Given the description of an element on the screen output the (x, y) to click on. 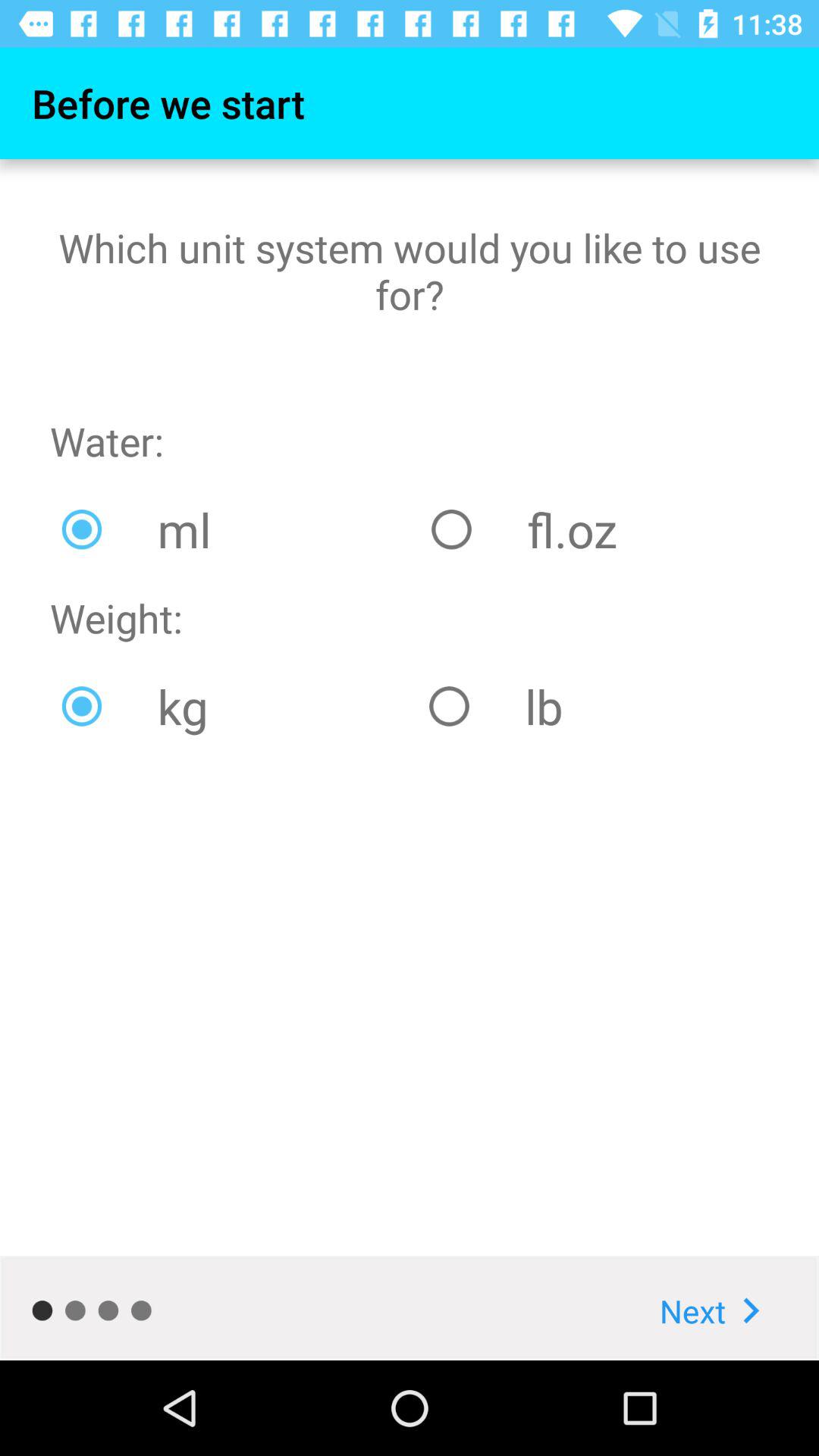
scroll until the kg (233, 706)
